Given the description of an element on the screen output the (x, y) to click on. 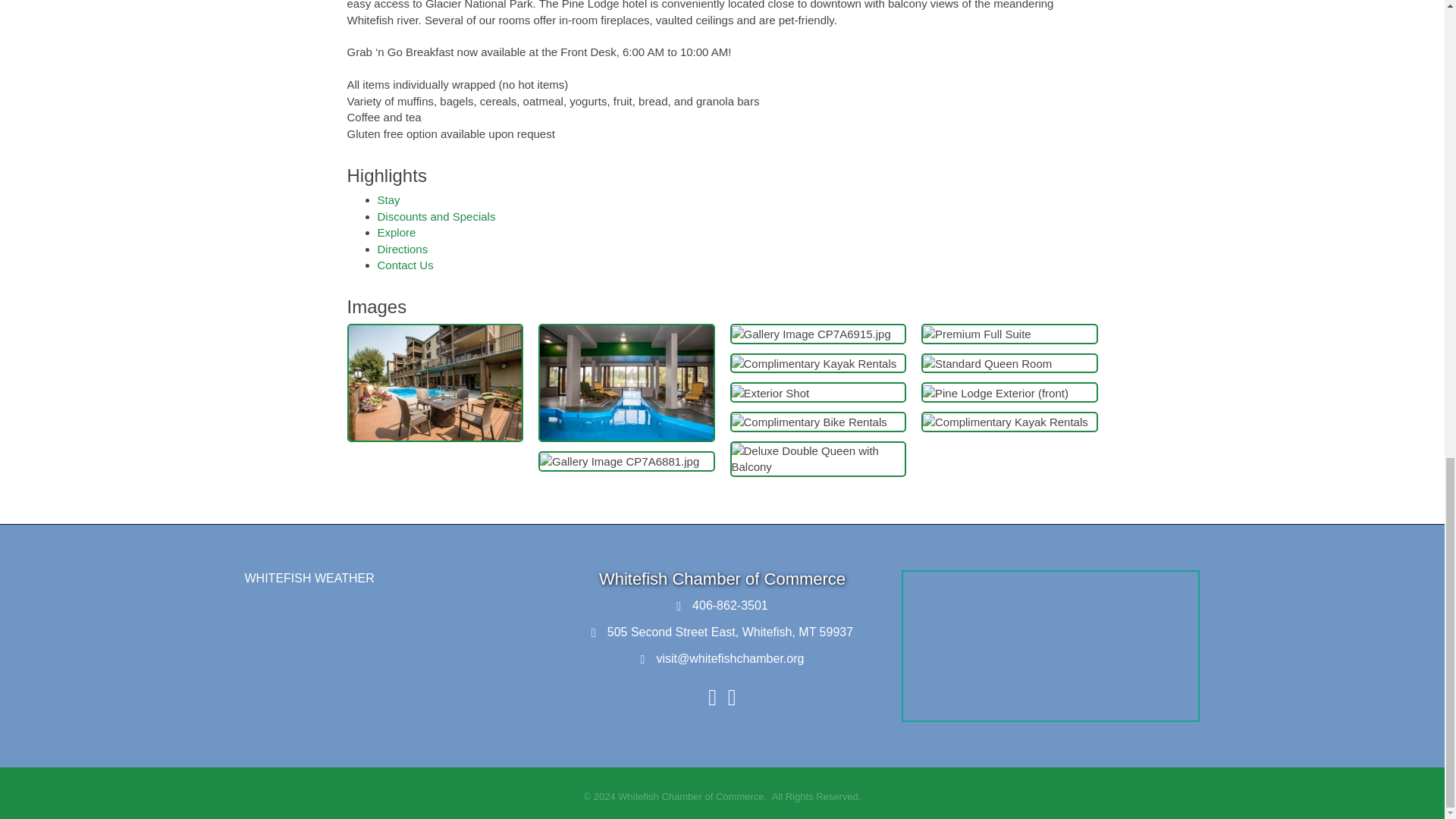
Indoor Pool (626, 382)
Outdoor Pool and Fire Pits (435, 382)
Gallery Image CP7A6881.jpg (619, 461)
Exterior Shot (769, 392)
Gallery Image CP7A6915.jpg (809, 333)
Complimentary Kayak Rentals (813, 363)
